Given the description of an element on the screen output the (x, y) to click on. 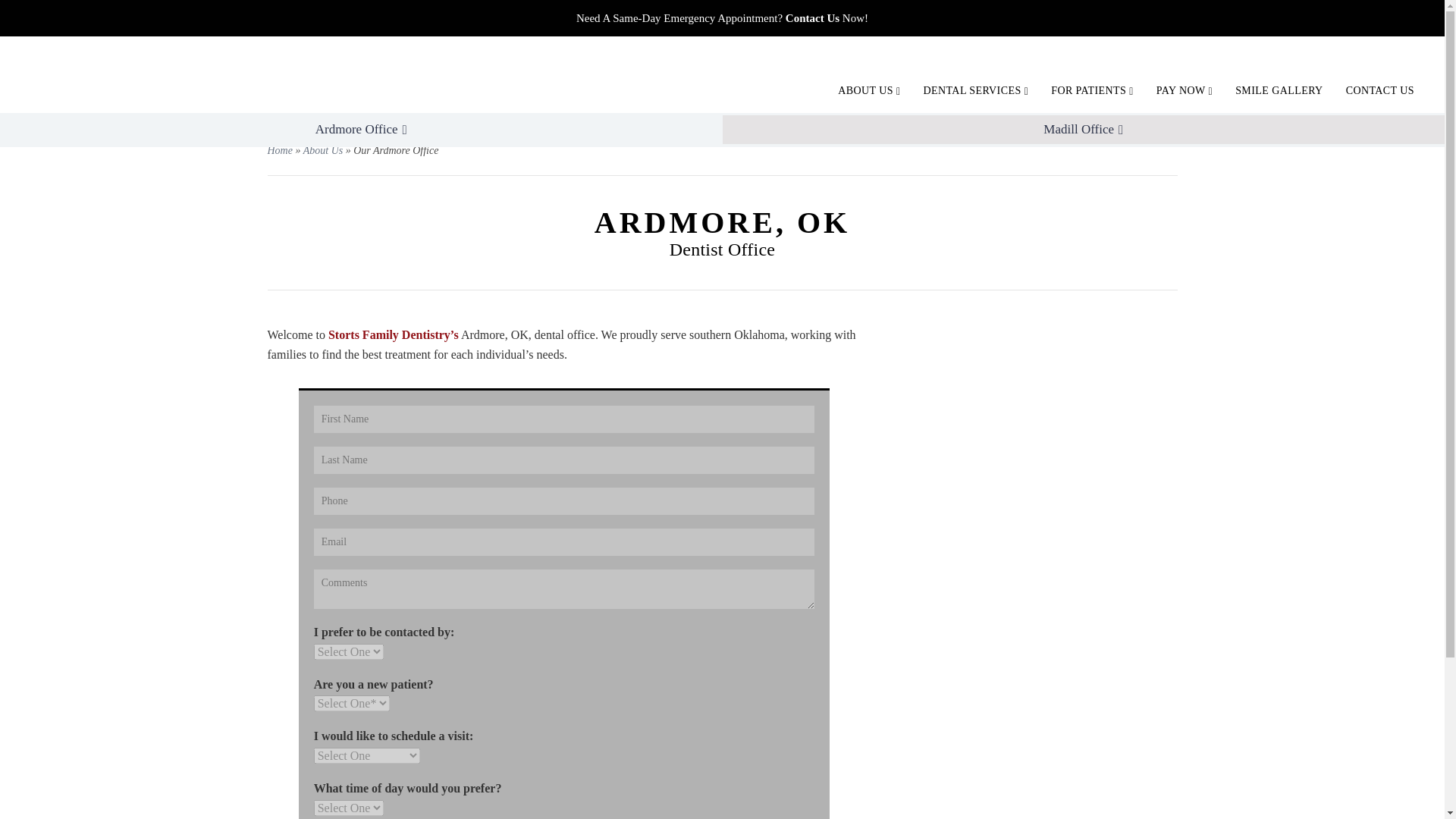
PAY NOW (1184, 90)
DENTAL SERVICES (975, 90)
ABOUT US (868, 90)
FOR PATIENTS (1092, 90)
Contact Us (813, 18)
